Given the description of an element on the screen output the (x, y) to click on. 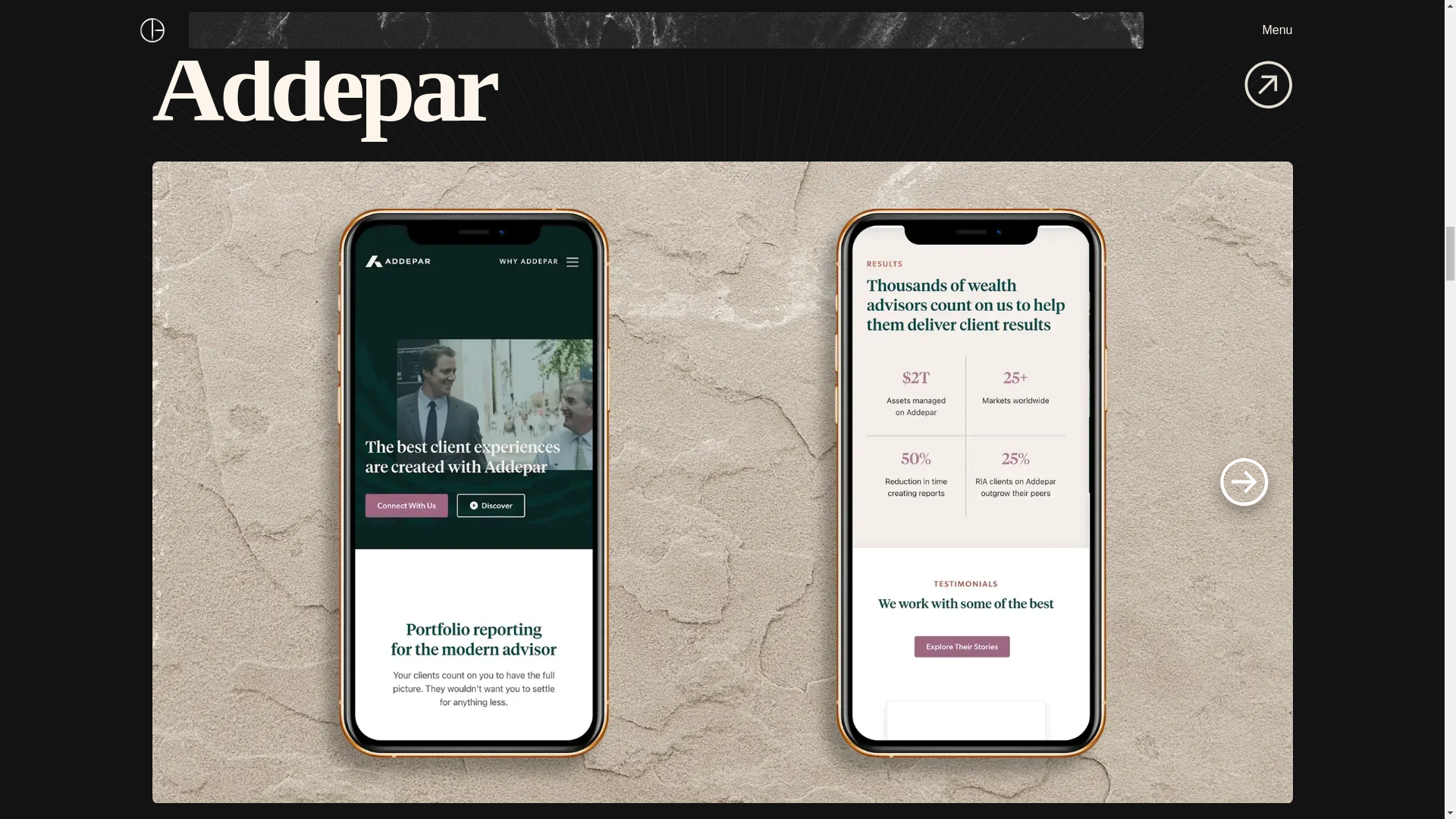
View Project: Addepar (1267, 86)
